Given the description of an element on the screen output the (x, y) to click on. 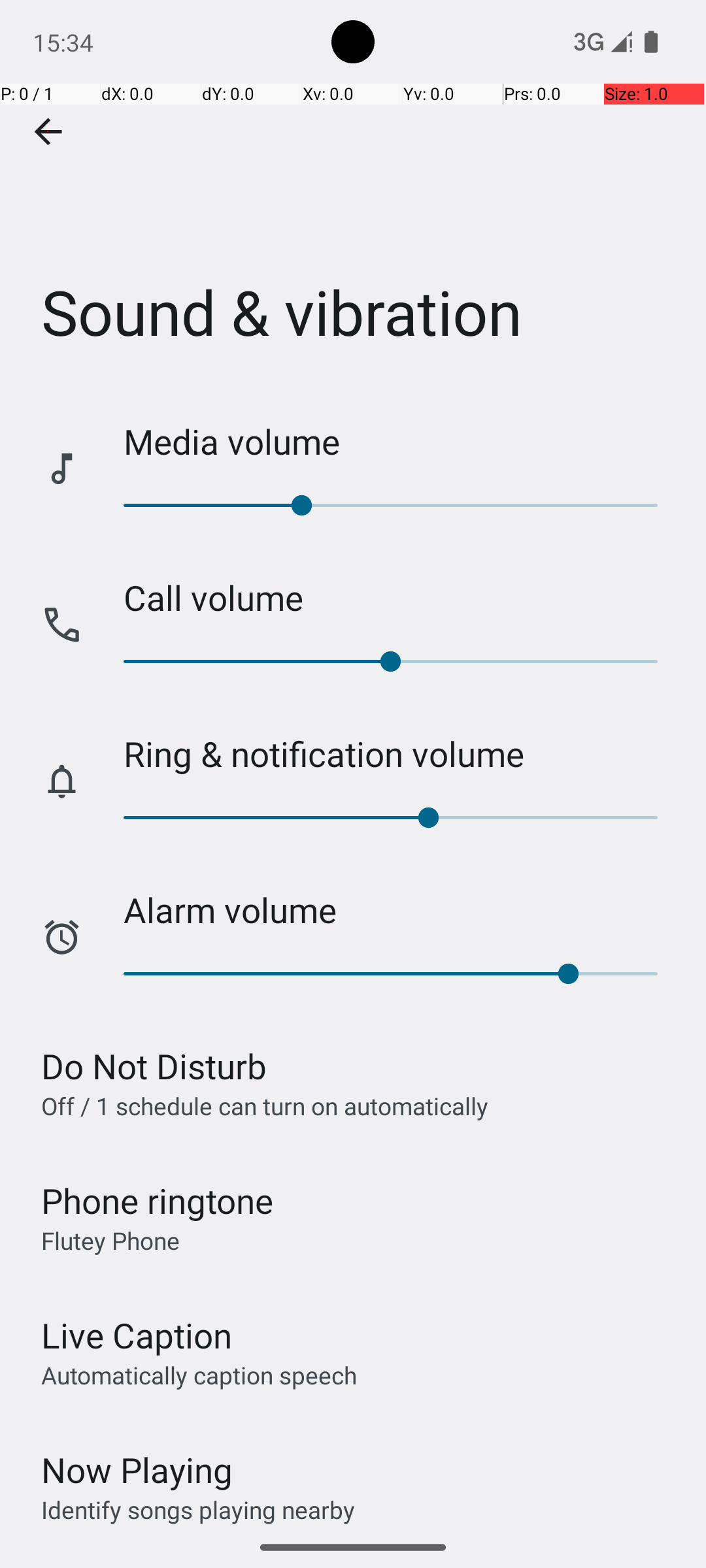
Off / 1 schedule can turn on automatically Element type: android.widget.TextView (264, 1105)
Now Playing Element type: android.widget.TextView (136, 1469)
Identify songs playing nearby Element type: android.widget.TextView (197, 1509)
